Given the description of an element on the screen output the (x, y) to click on. 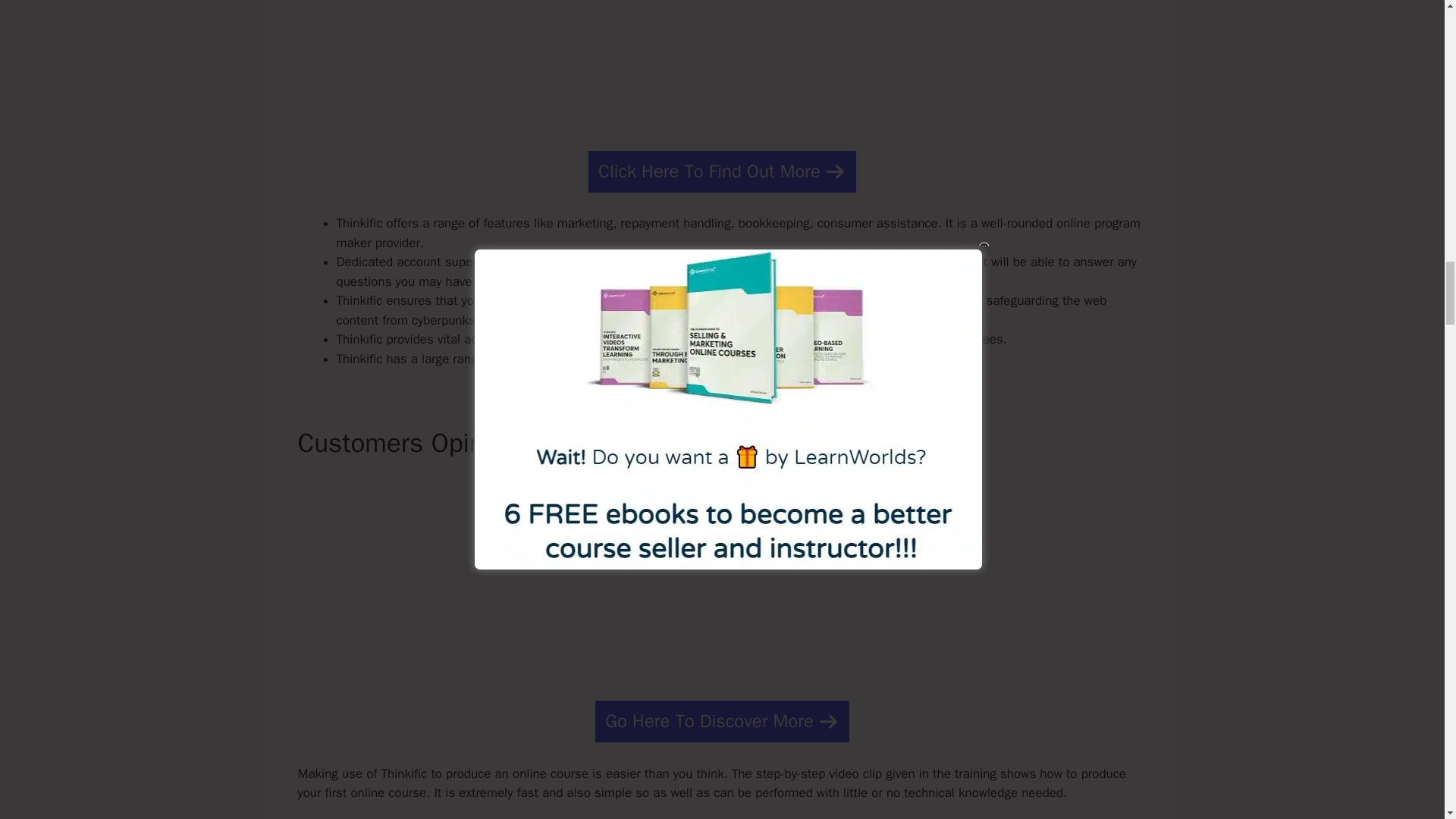
Go Here To Discover More (721, 721)
Click Here To Find Out More (722, 171)
